Given the description of an element on the screen output the (x, y) to click on. 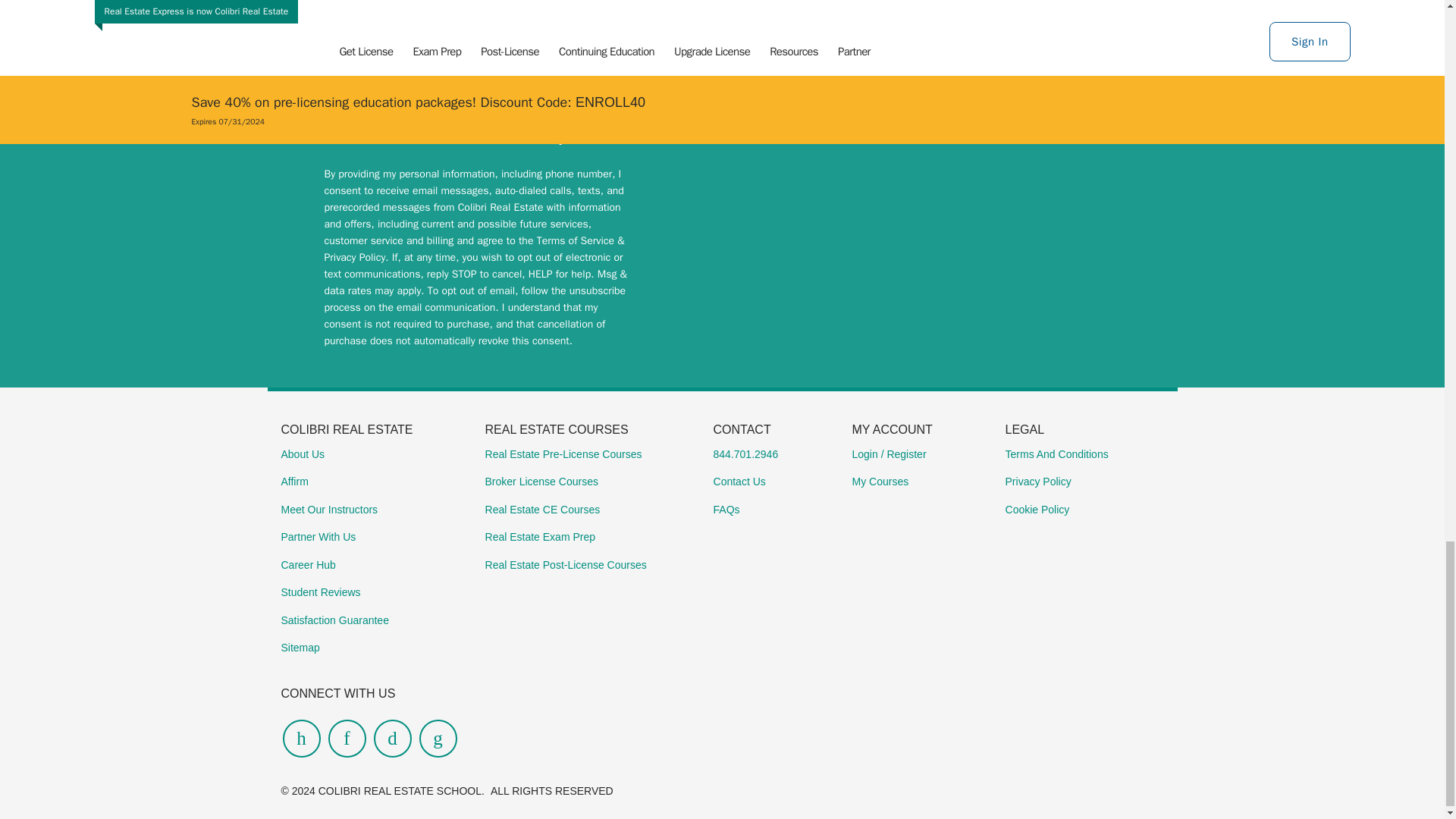
Connect with us on LinkedIn (346, 738)
Connect with us on YouTube (301, 738)
Connect with us on Facebook (391, 738)
Connect with us on Twitter (438, 738)
